Given the description of an element on the screen output the (x, y) to click on. 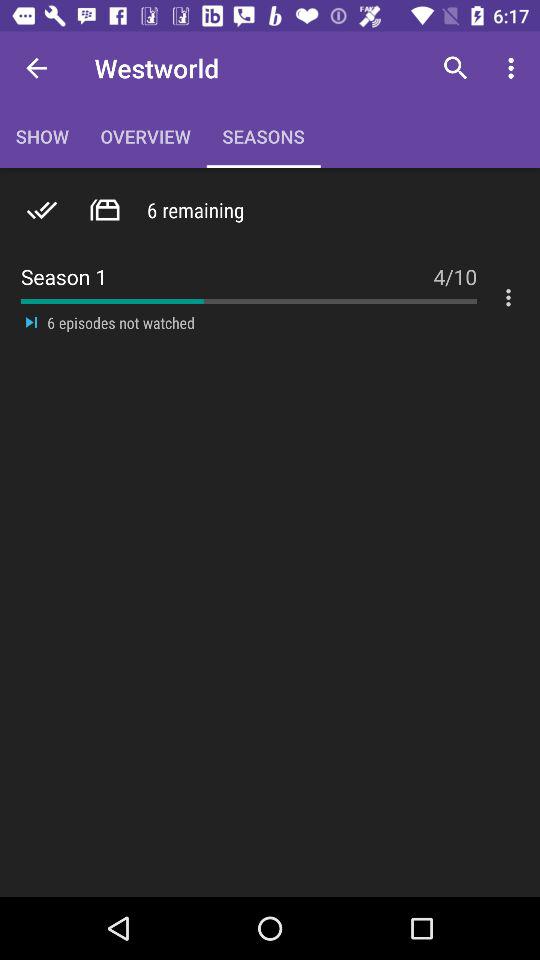
click on overview (145, 136)
